Given the description of an element on the screen output the (x, y) to click on. 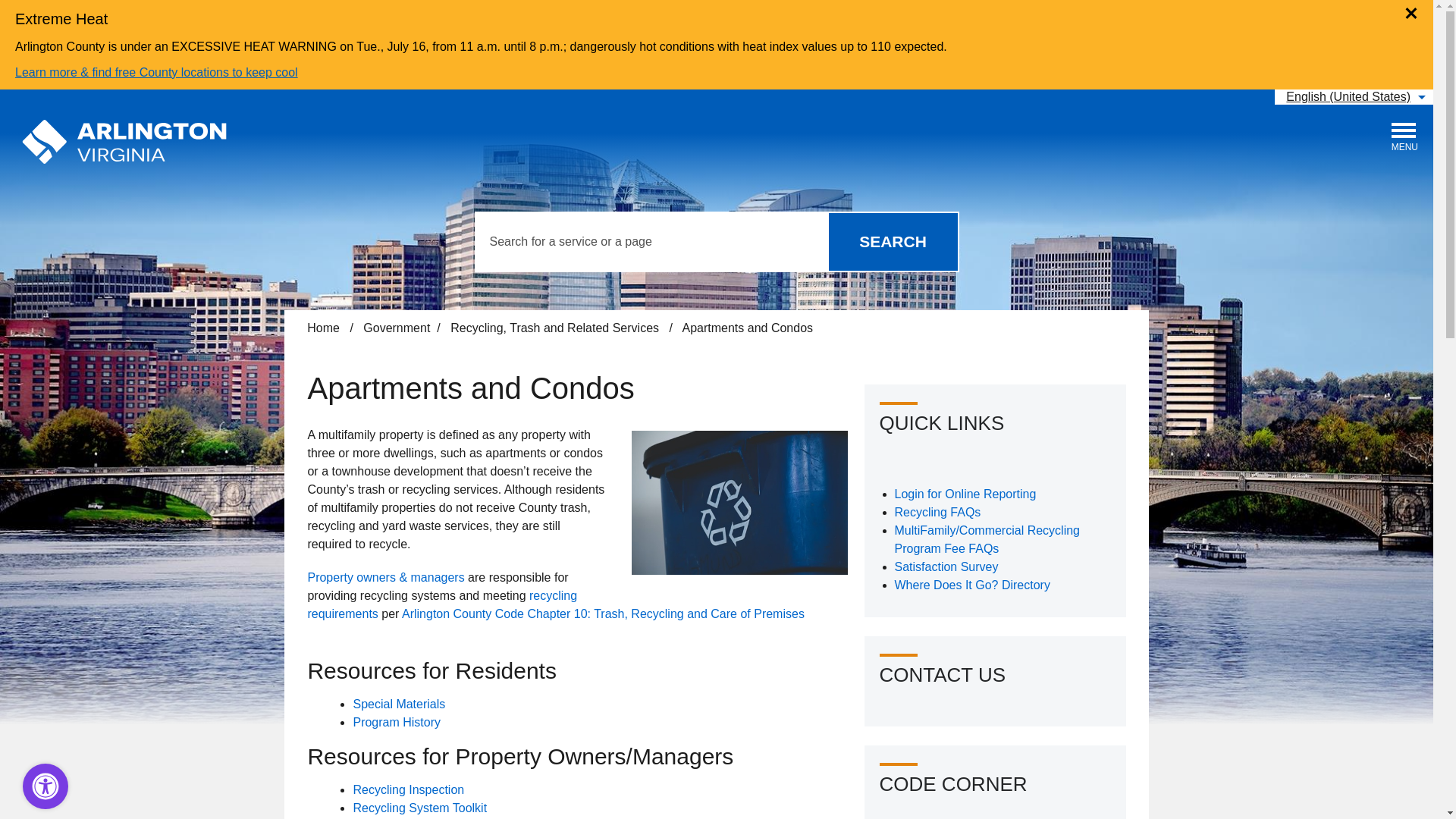
Search (892, 241)
Arlington County Virginia - Home - Logo (124, 142)
Search (892, 241)
